Given the description of an element on the screen output the (x, y) to click on. 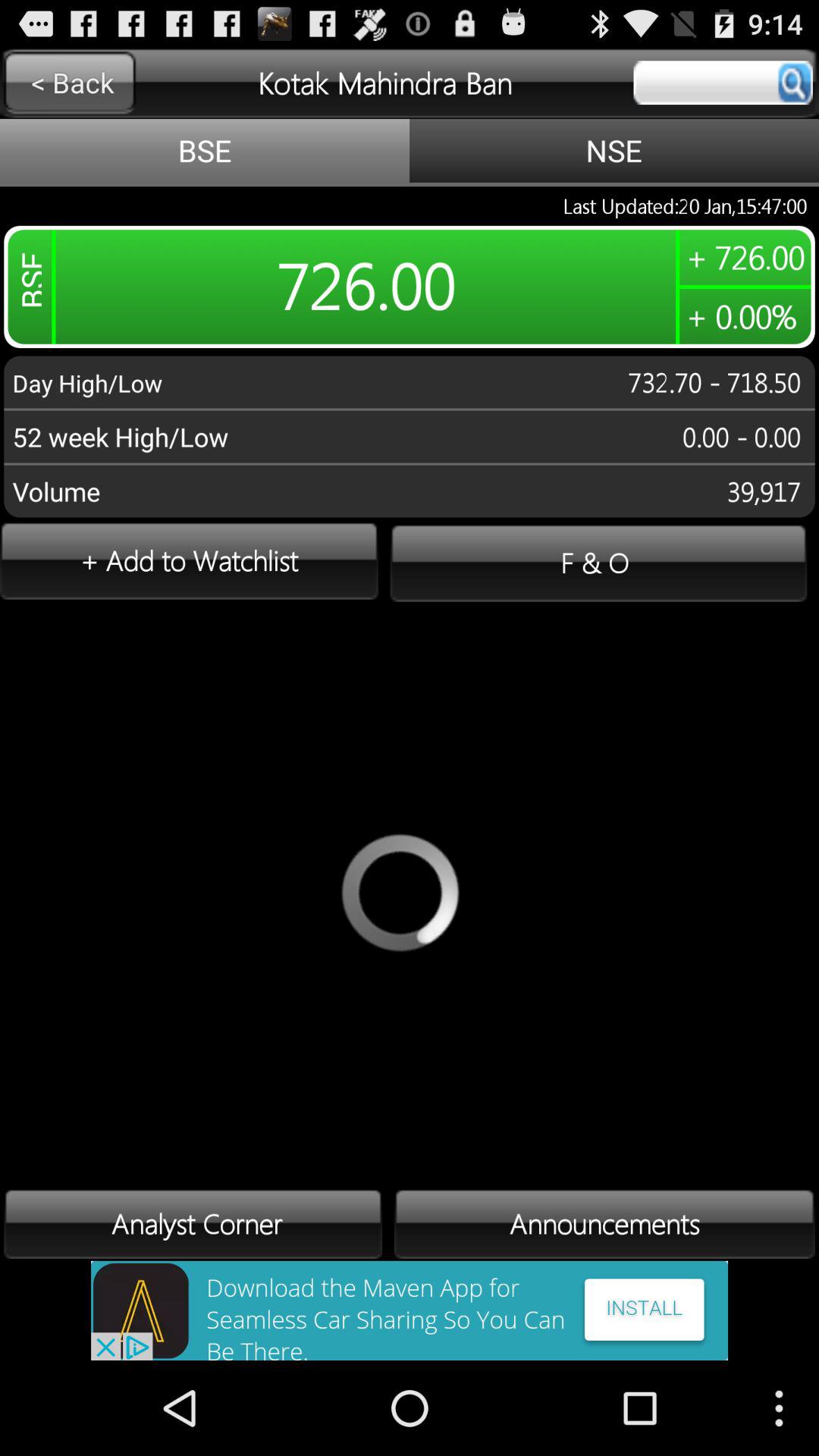
select image (409, 1310)
